Given the description of an element on the screen output the (x, y) to click on. 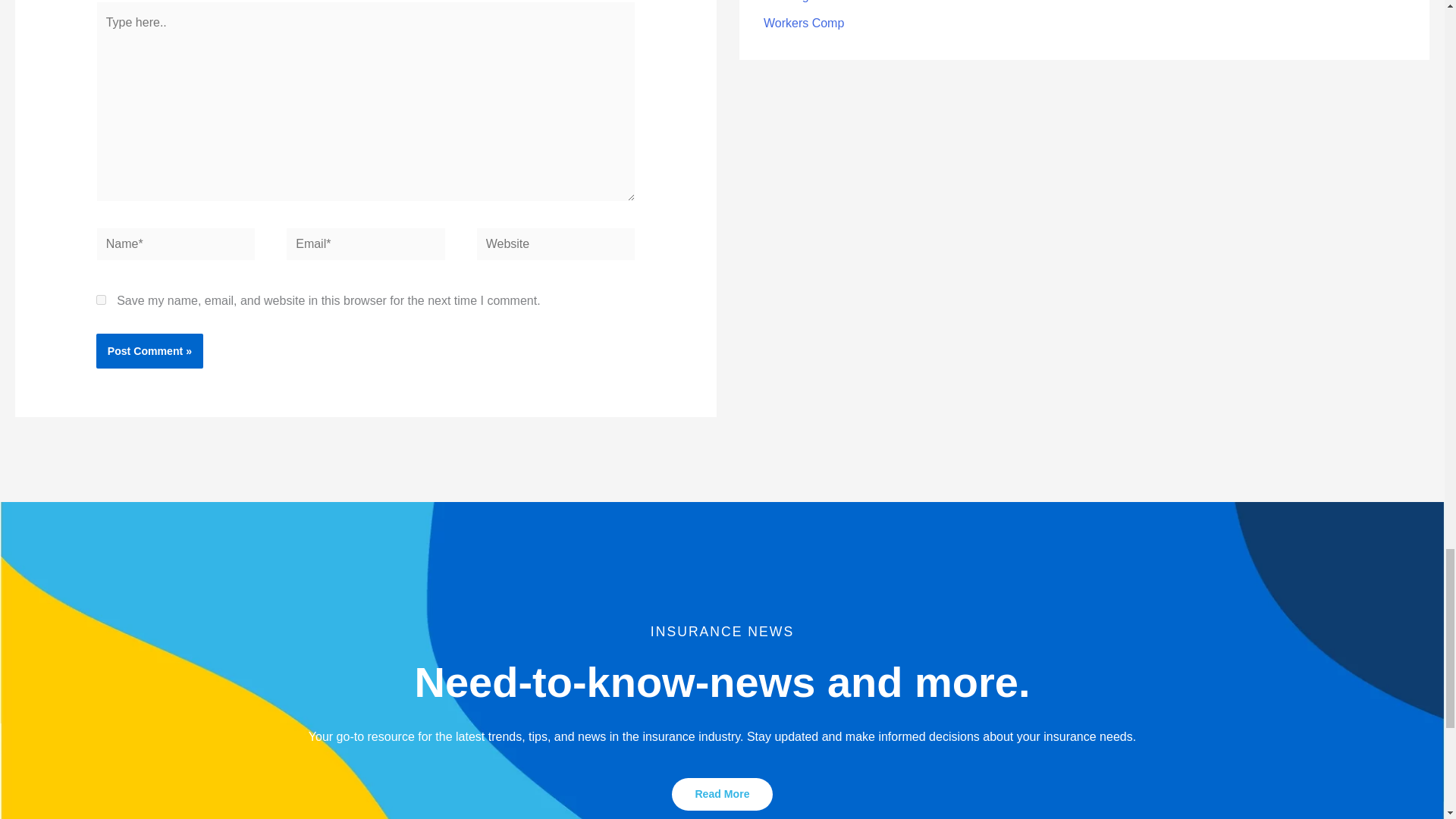
yes (101, 299)
